Given the description of an element on the screen output the (x, y) to click on. 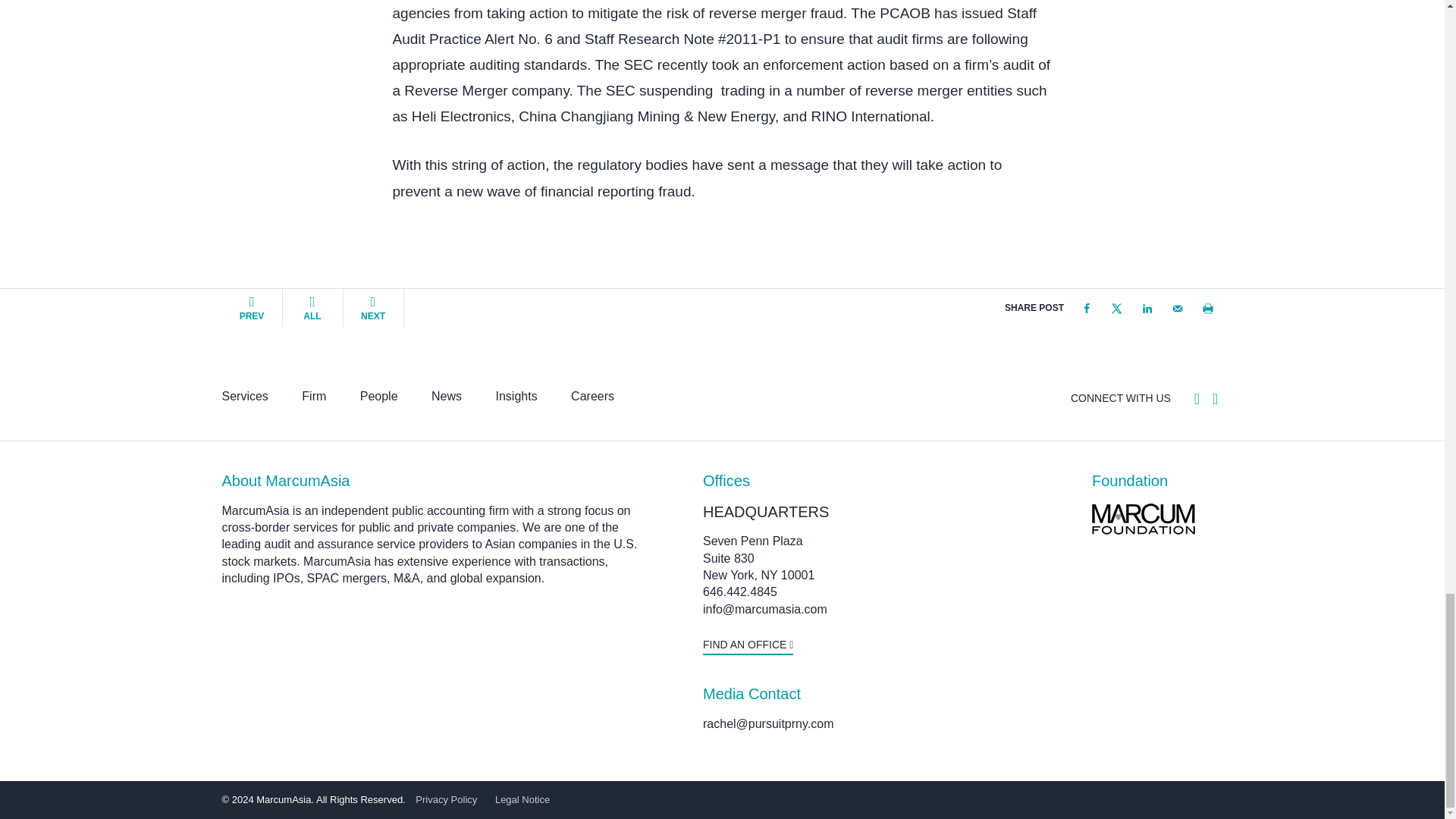
Print this webpage (1207, 308)
PREV (251, 307)
ALL (312, 307)
Send over email (1176, 308)
NEXT (372, 307)
Share on X (1115, 308)
Share on Facebook (1085, 308)
Share on LinkedIn (1146, 308)
